Given the description of an element on the screen output the (x, y) to click on. 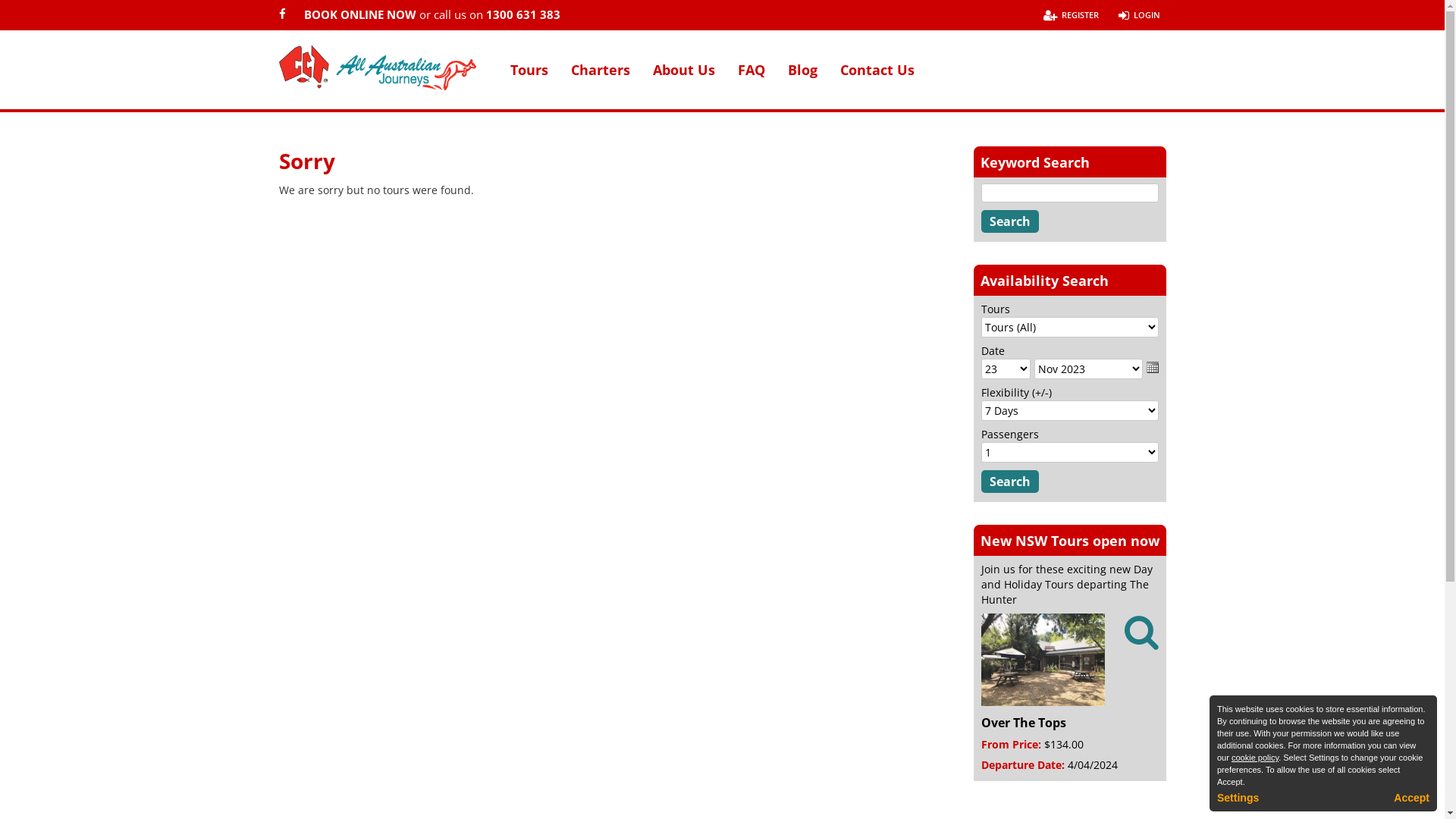
1300 631 383 Element type: text (522, 13)
Search Element type: text (1009, 481)
Accept Element type: text (1411, 797)
Contact Us Element type: text (877, 79)
Charters Element type: text (599, 79)
Tours Element type: text (528, 79)
Blog Element type: text (801, 79)
About Us Element type: text (682, 79)
LOGIN Element type: text (1138, 15)
FAQ Element type: text (750, 79)
REGISTER Element type: text (1070, 15)
Cross Country Tours | Tel: 07 3869 7444 Element type: hover (377, 67)
cookie policy Element type: text (1254, 757)
Settings Element type: text (1237, 797)
Search Element type: text (1009, 221)
